Given the description of an element on the screen output the (x, y) to click on. 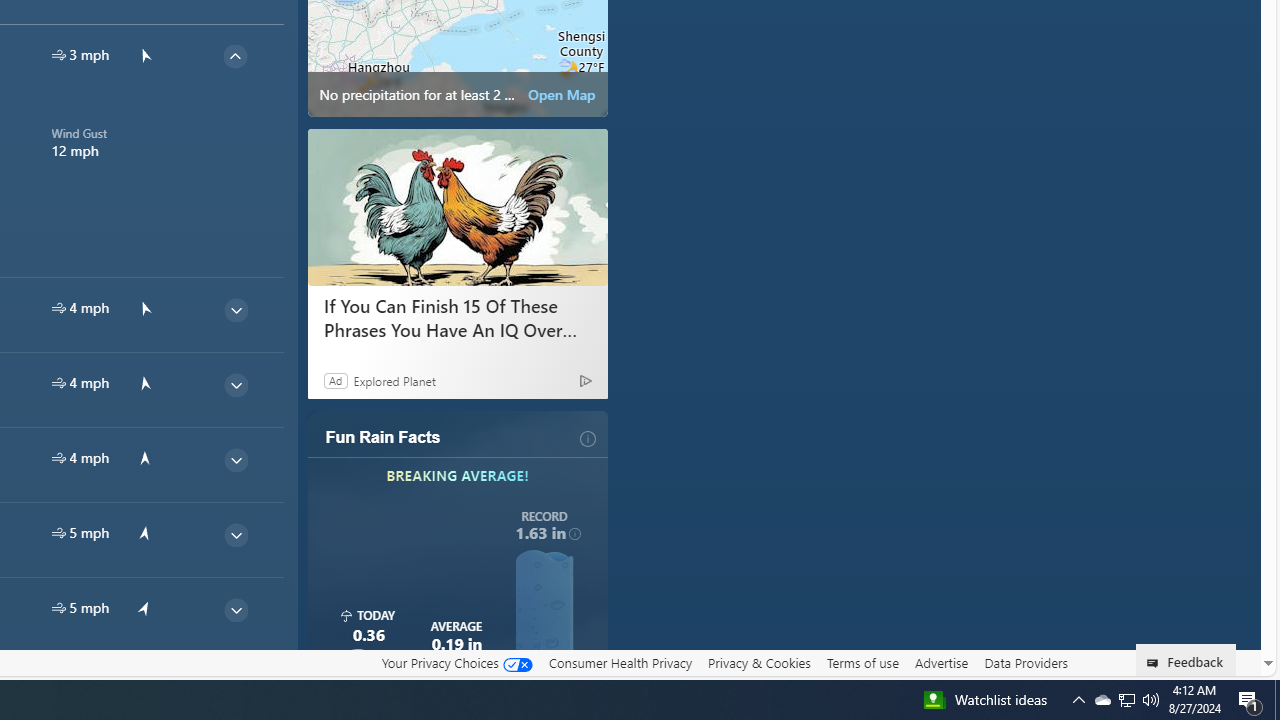
Explored Planet (1126, 699)
Class: feedback_link_icon-DS-EntryPoint1-1 (394, 380)
Your Privacy Choices (1156, 663)
Data Providers (456, 662)
Notification Chevron (1025, 663)
User Promoted Notification Area (1078, 699)
Q2790: 100% (1126, 699)
hourlyTable/wind (1151, 699)
Action Center, 1 new notification (1102, 699)
common/thinArrow (58, 607)
Consumer Health Privacy (1250, 699)
